Given the description of an element on the screen output the (x, y) to click on. 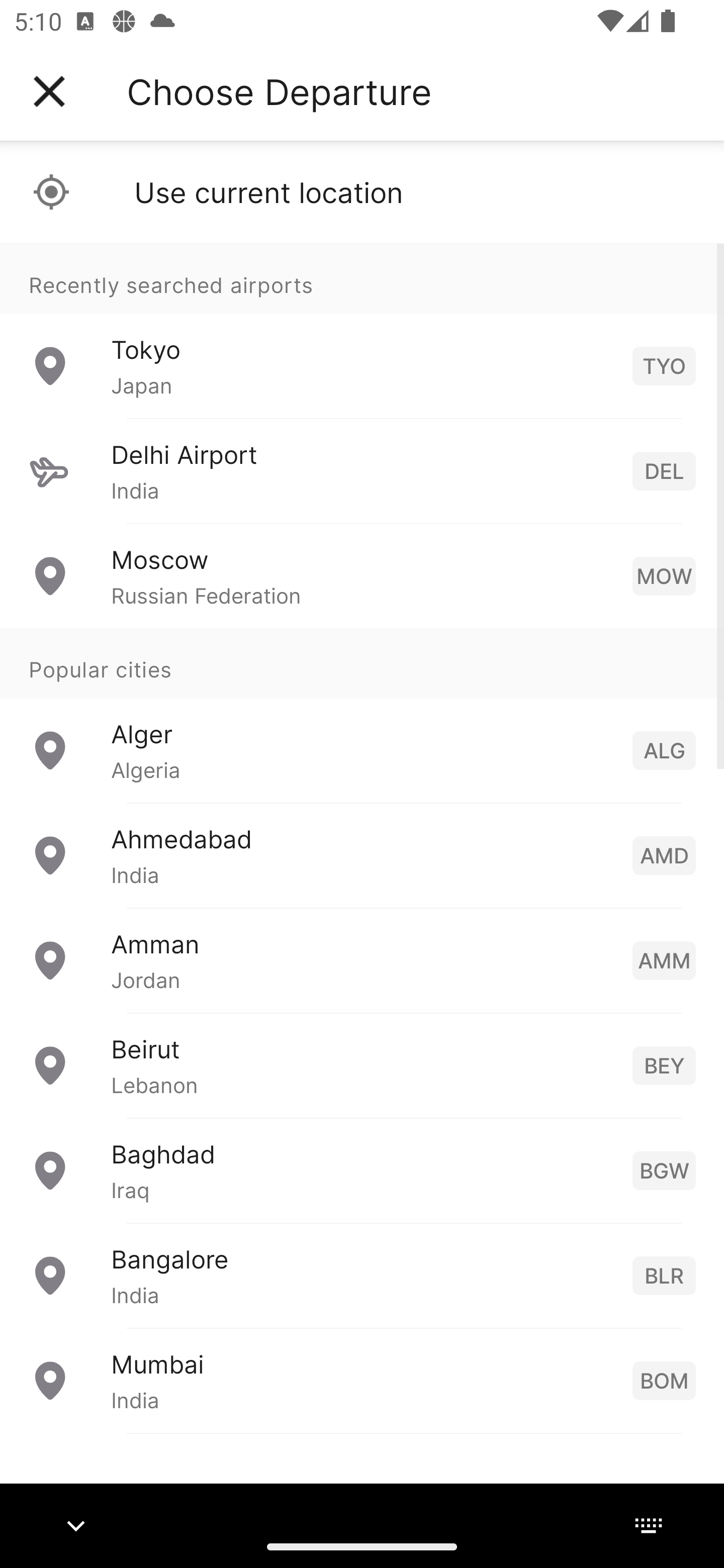
Choose Departure (279, 91)
Use current location (362, 192)
Recently searched airports Tokyo Japan TYO (362, 330)
Recently searched airports (362, 278)
Delhi Airport India DEL (362, 470)
Moscow Russian Federation MOW (362, 575)
Popular cities Alger Algeria ALG (362, 715)
Popular cities (362, 663)
Ahmedabad India AMD (362, 854)
Amman Jordan AMM (362, 959)
Beirut Lebanon BEY (362, 1064)
Baghdad Iraq BGW (362, 1170)
Bangalore India BLR (362, 1275)
Mumbai India BOM (362, 1380)
